Given the description of an element on the screen output the (x, y) to click on. 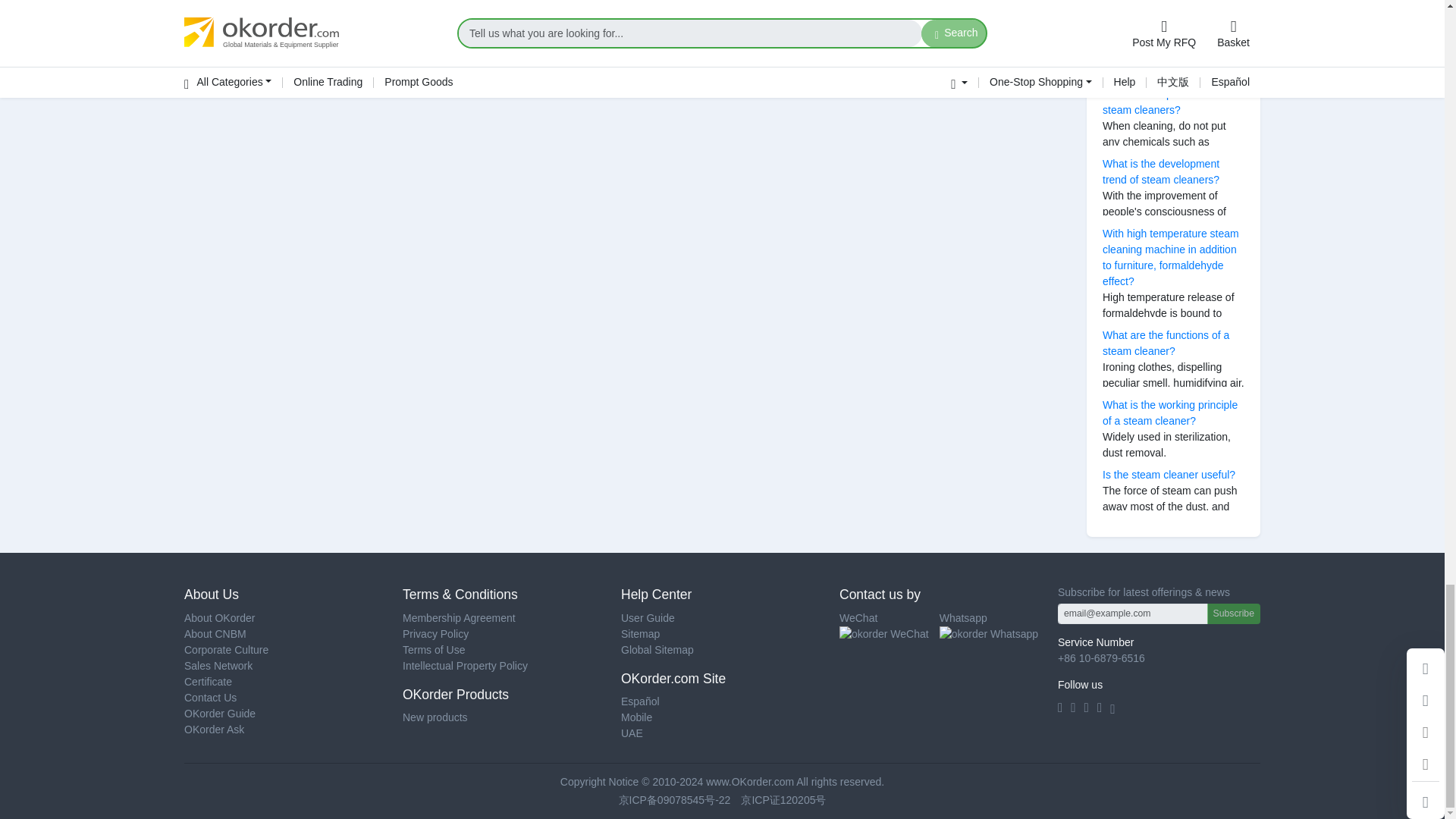
Subscribe (1233, 613)
